Given the description of an element on the screen output the (x, y) to click on. 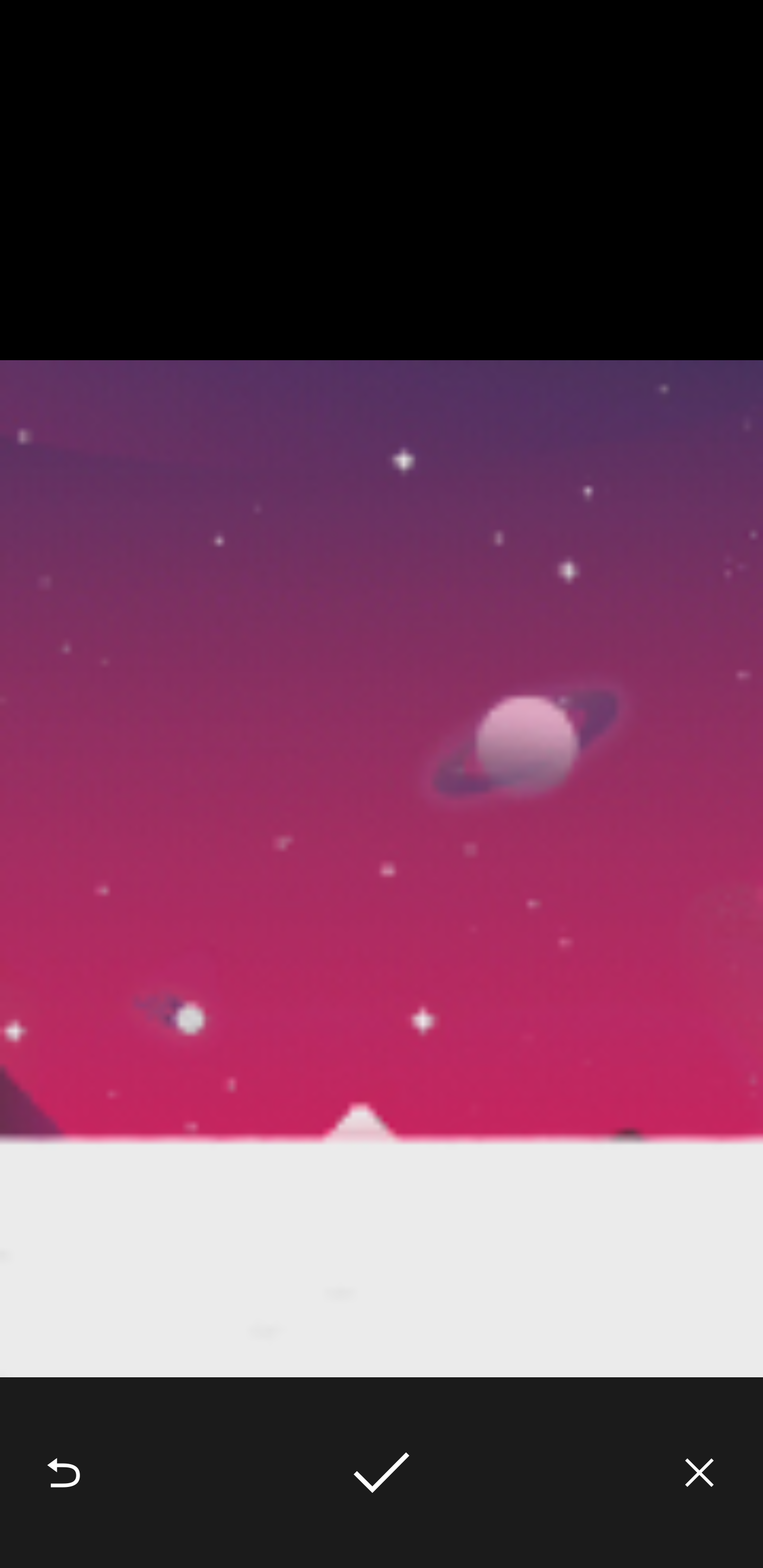
Done (381, 1472)
Retake (63, 1472)
Cancel (699, 1472)
